Given the description of an element on the screen output the (x, y) to click on. 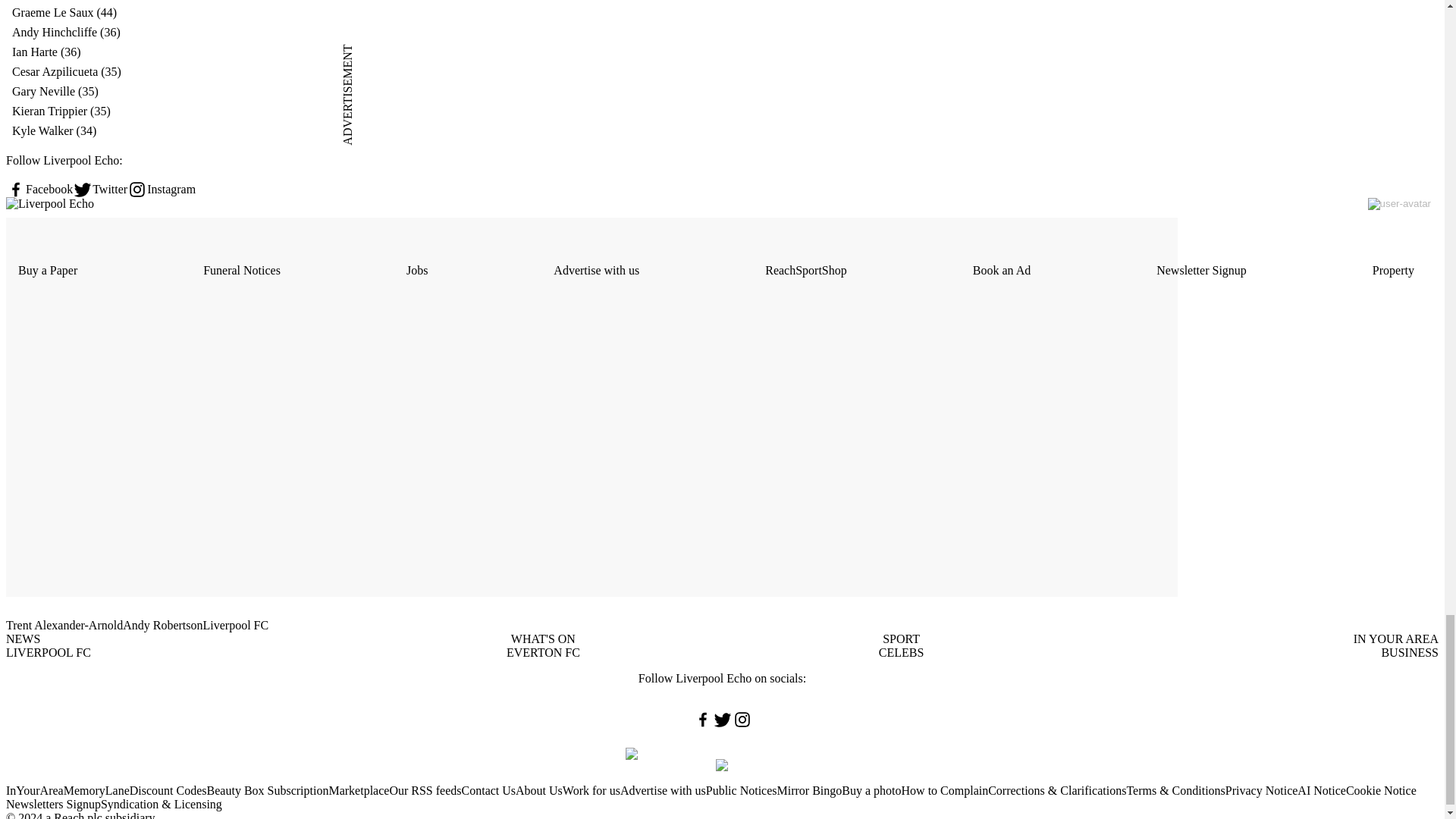
Facebook (38, 189)
Instagram (161, 189)
Twitter (100, 189)
